Given the description of an element on the screen output the (x, y) to click on. 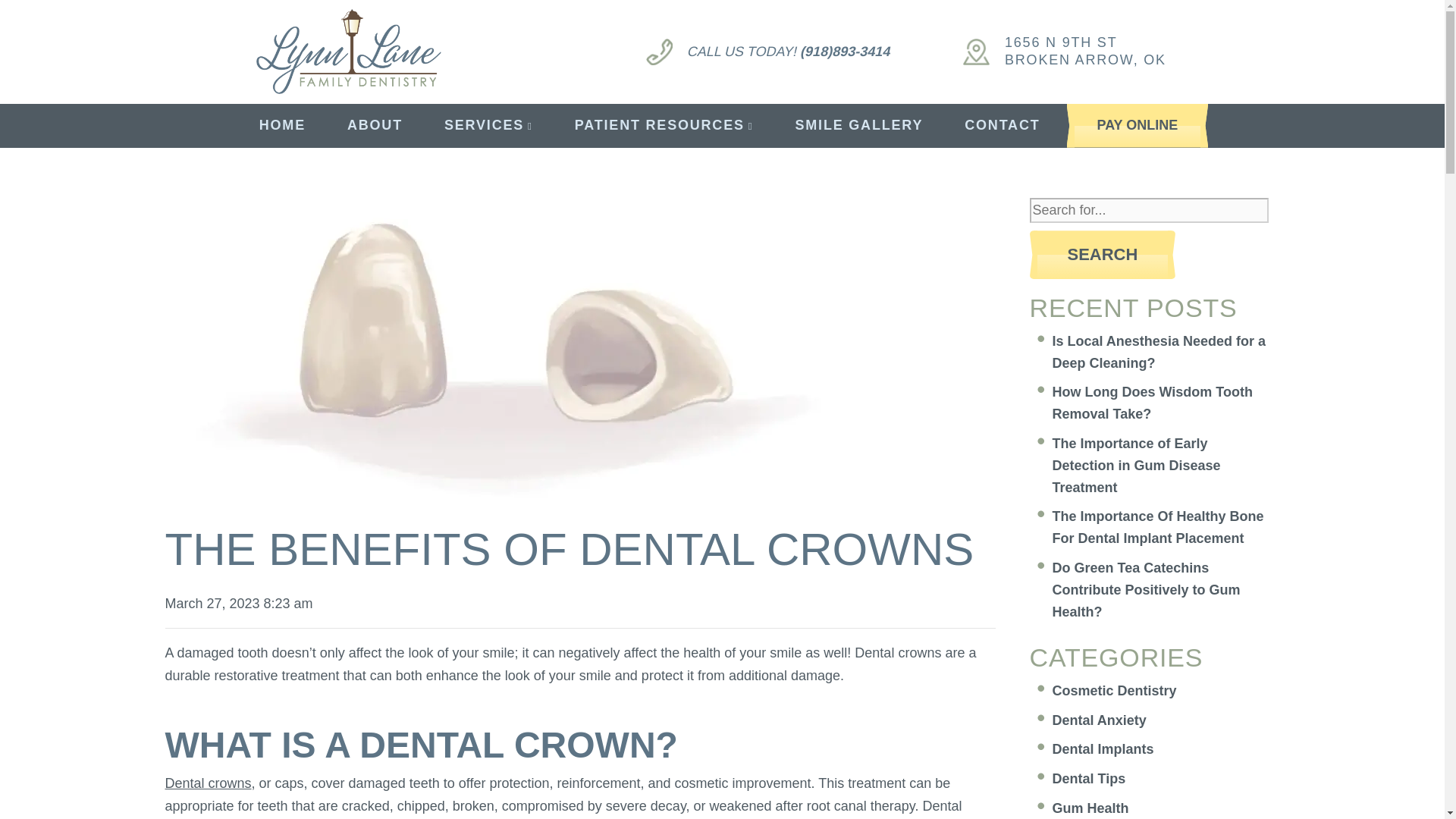
PATIENT RESOURCES (663, 125)
SEARCH (1102, 254)
Dental Anxiety (1099, 720)
The Importance of Early Detection in Gum Disease Treatment (1052, 52)
HOME (1136, 465)
Dental Implants (282, 125)
The Importance Of Healthy Bone For Dental Implant Placement (1103, 749)
How Long Does Wisdom Tooth Removal Take? (1157, 527)
ABOUT (1152, 402)
